Given the description of an element on the screen output the (x, y) to click on. 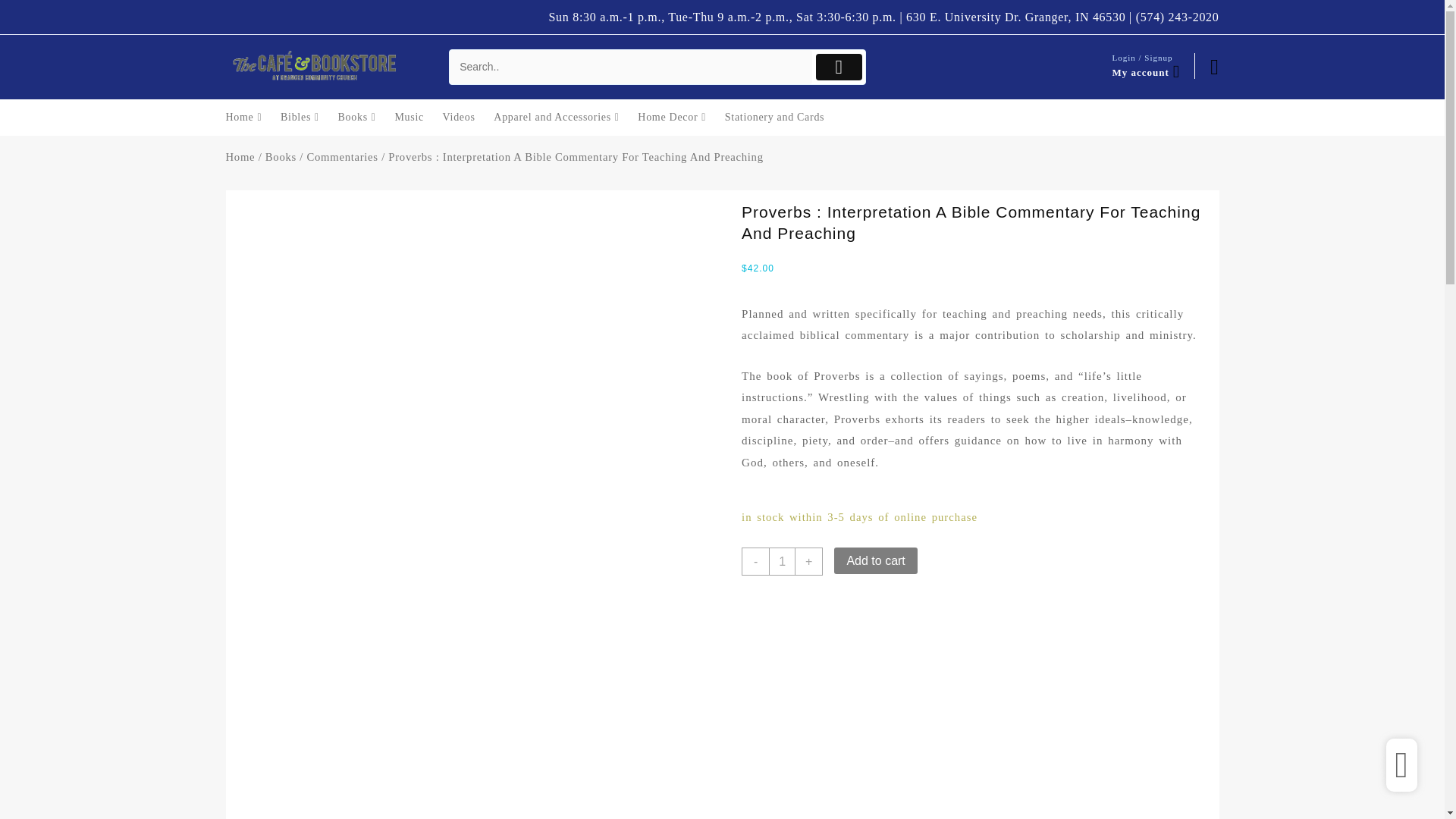
Search (630, 66)
1 (781, 560)
Submit (838, 67)
630 E. University Dr. Granger, IN 46530 (1015, 16)
